Given the description of an element on the screen output the (x, y) to click on. 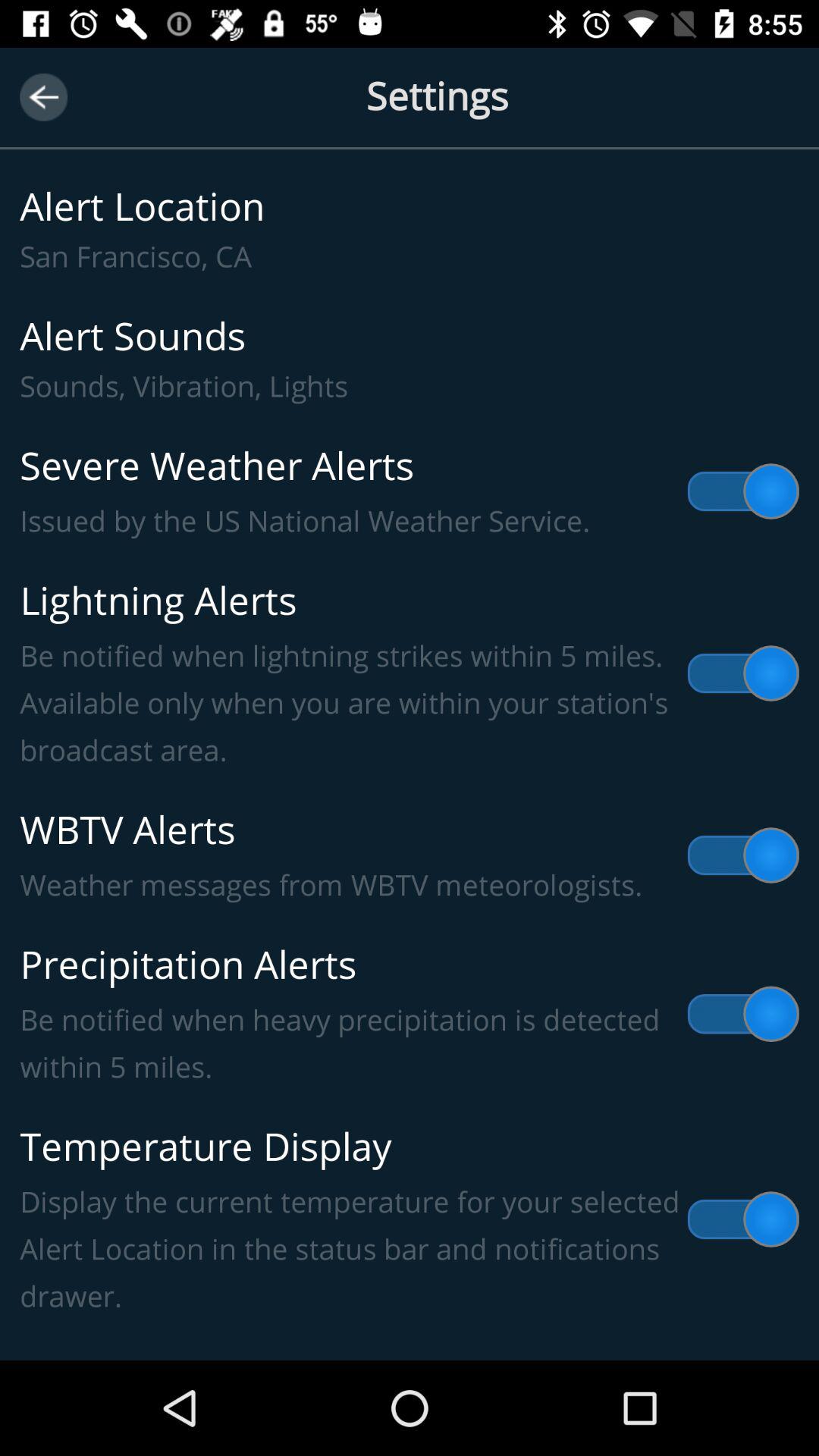
select settings (409, 114)
